Given the description of an element on the screen output the (x, y) to click on. 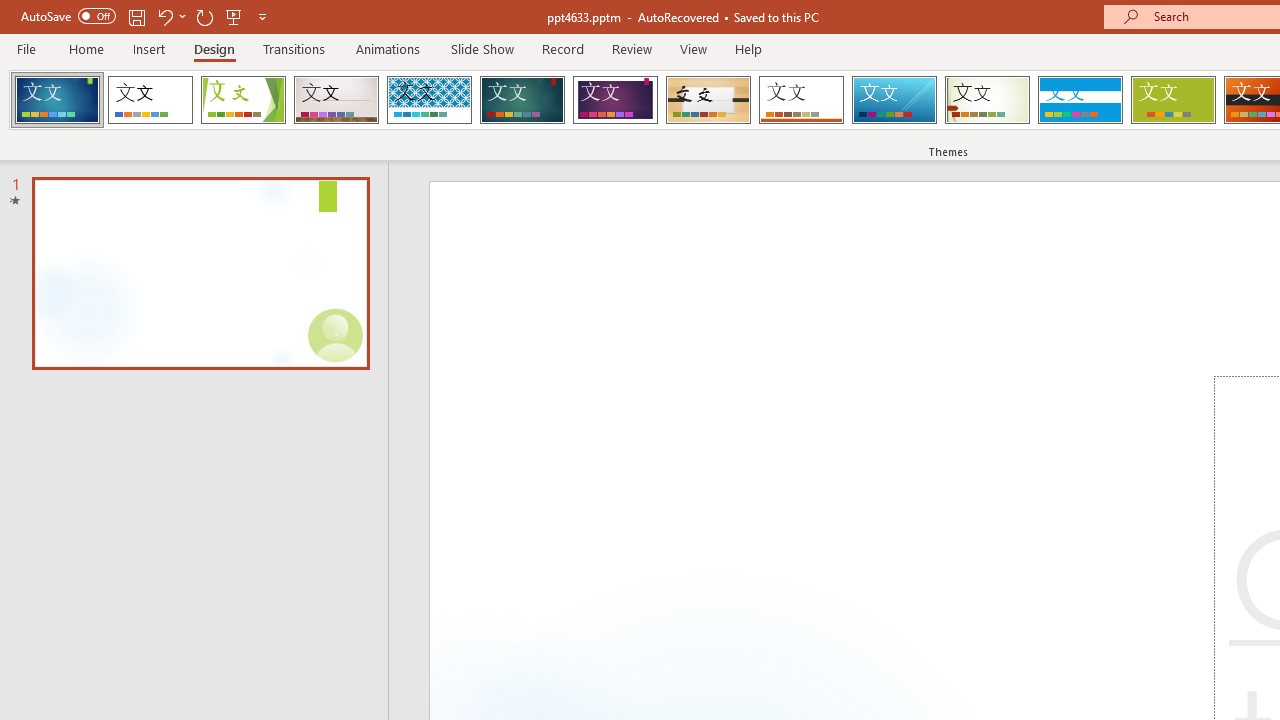
Slice Loading Preview... (893, 100)
Gallery (336, 100)
Ion Boardroom Loading Preview... (615, 100)
Retrospect Loading Preview... (801, 100)
Facet (243, 100)
Basis Loading Preview... (1172, 100)
